Given the description of an element on the screen output the (x, y) to click on. 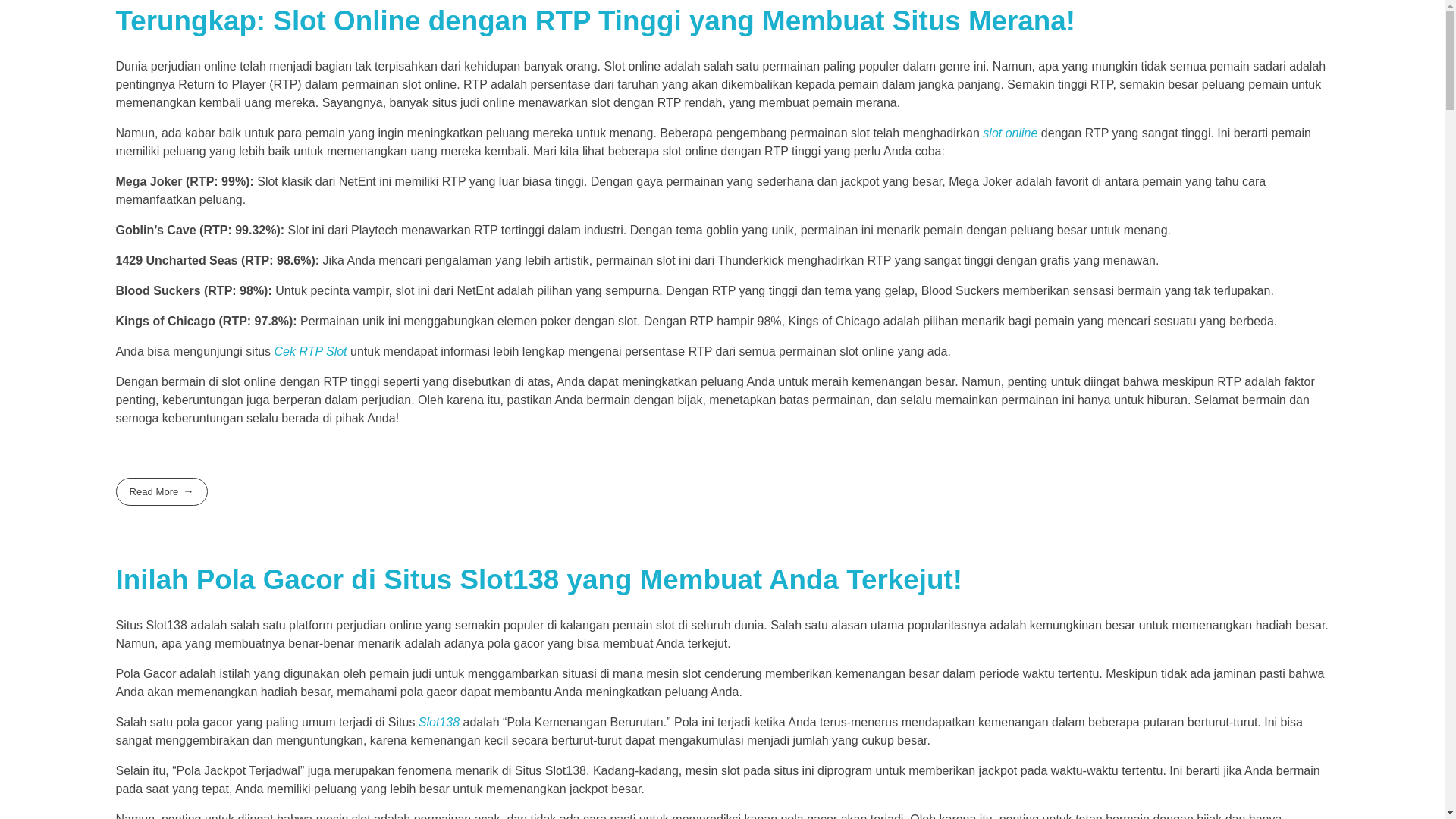
slot online (1009, 132)
Cek RTP Slot (311, 350)
Read More (160, 491)
Slot138 (439, 721)
